Given the description of an element on the screen output the (x, y) to click on. 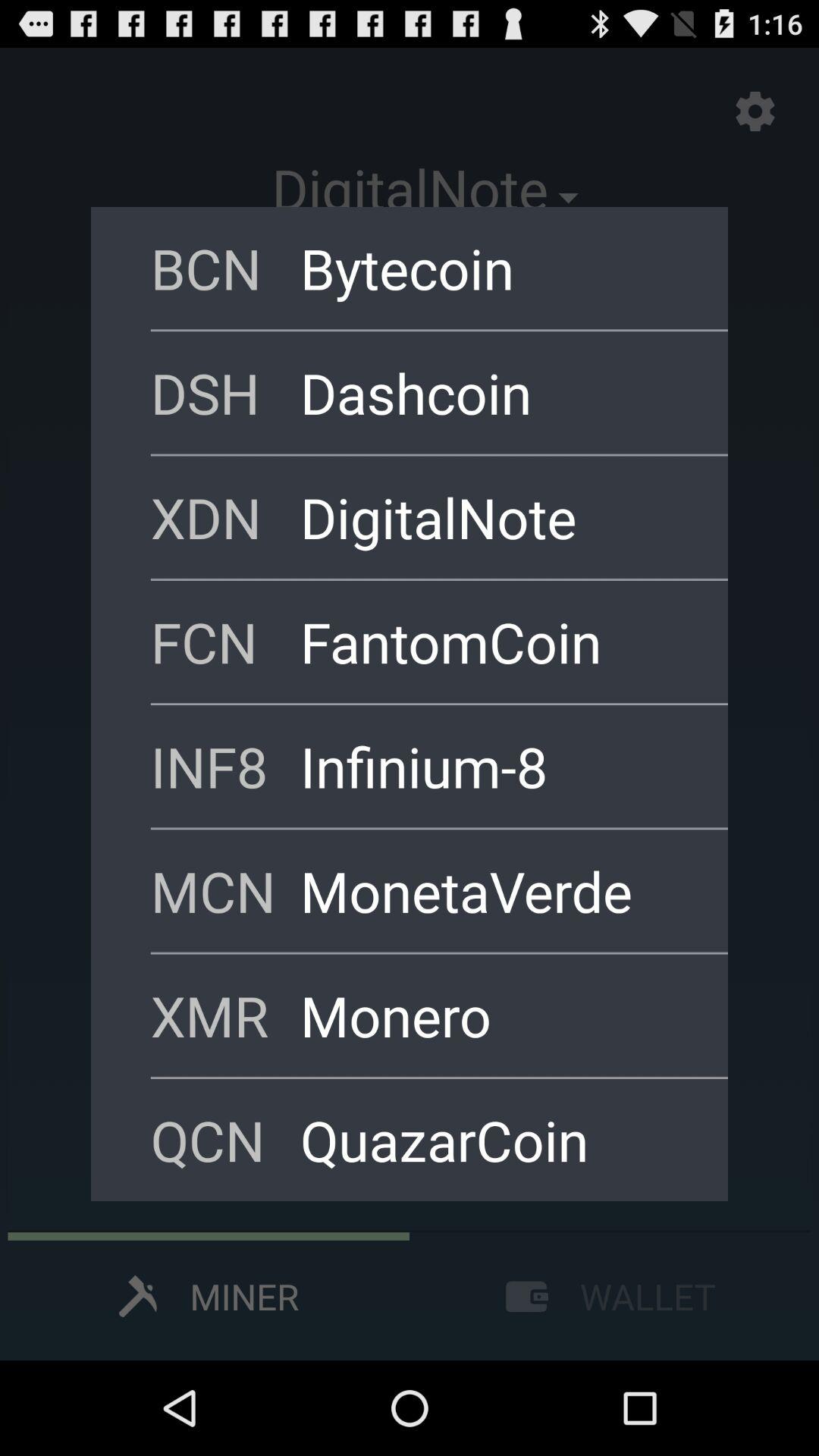
click app next to inf8 icon (494, 766)
